Given the description of an element on the screen output the (x, y) to click on. 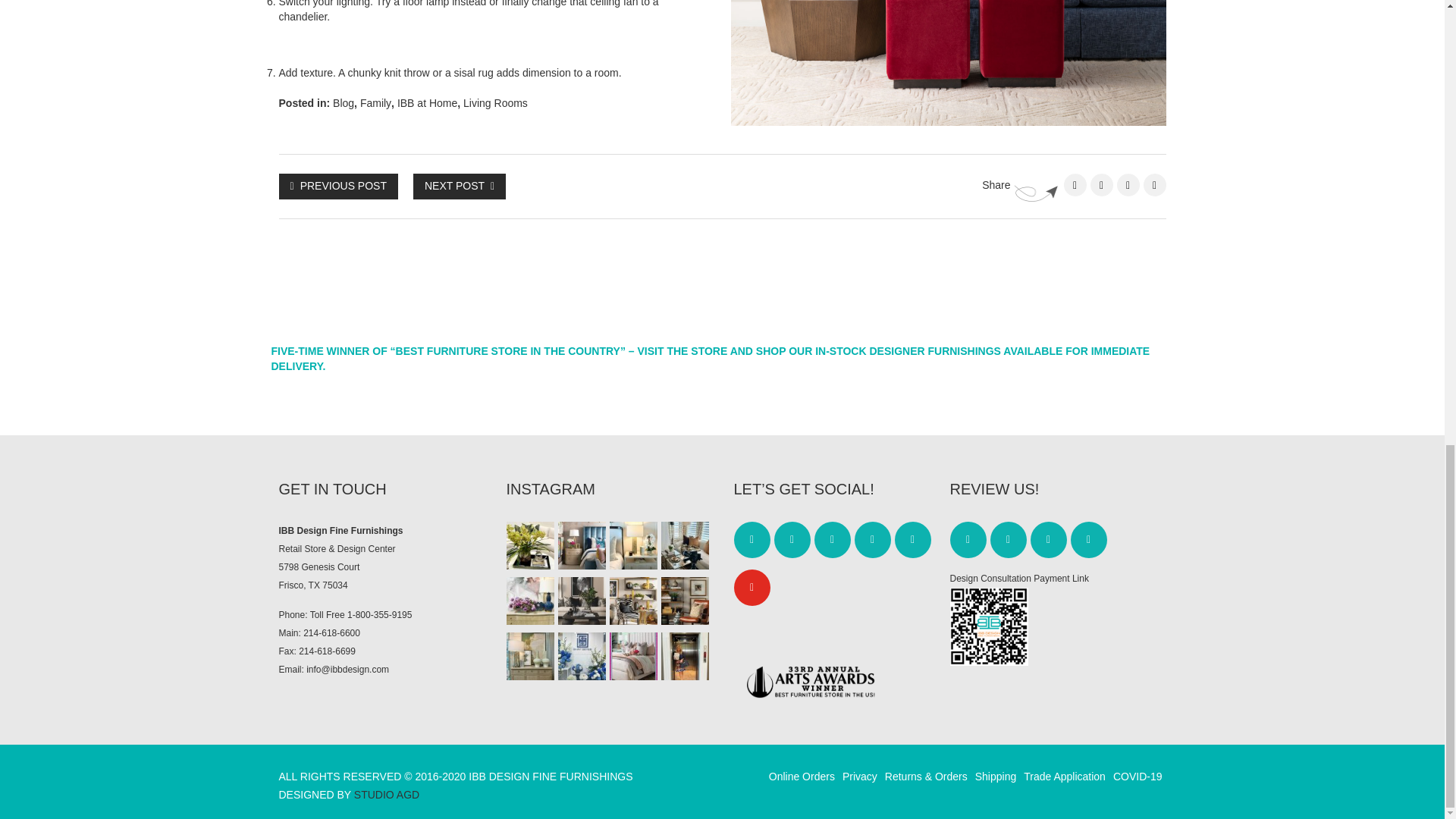
Pinterest (1127, 184)
Facebook (1074, 184)
Google Plus (1154, 184)
Twitter (1101, 184)
